Given the description of an element on the screen output the (x, y) to click on. 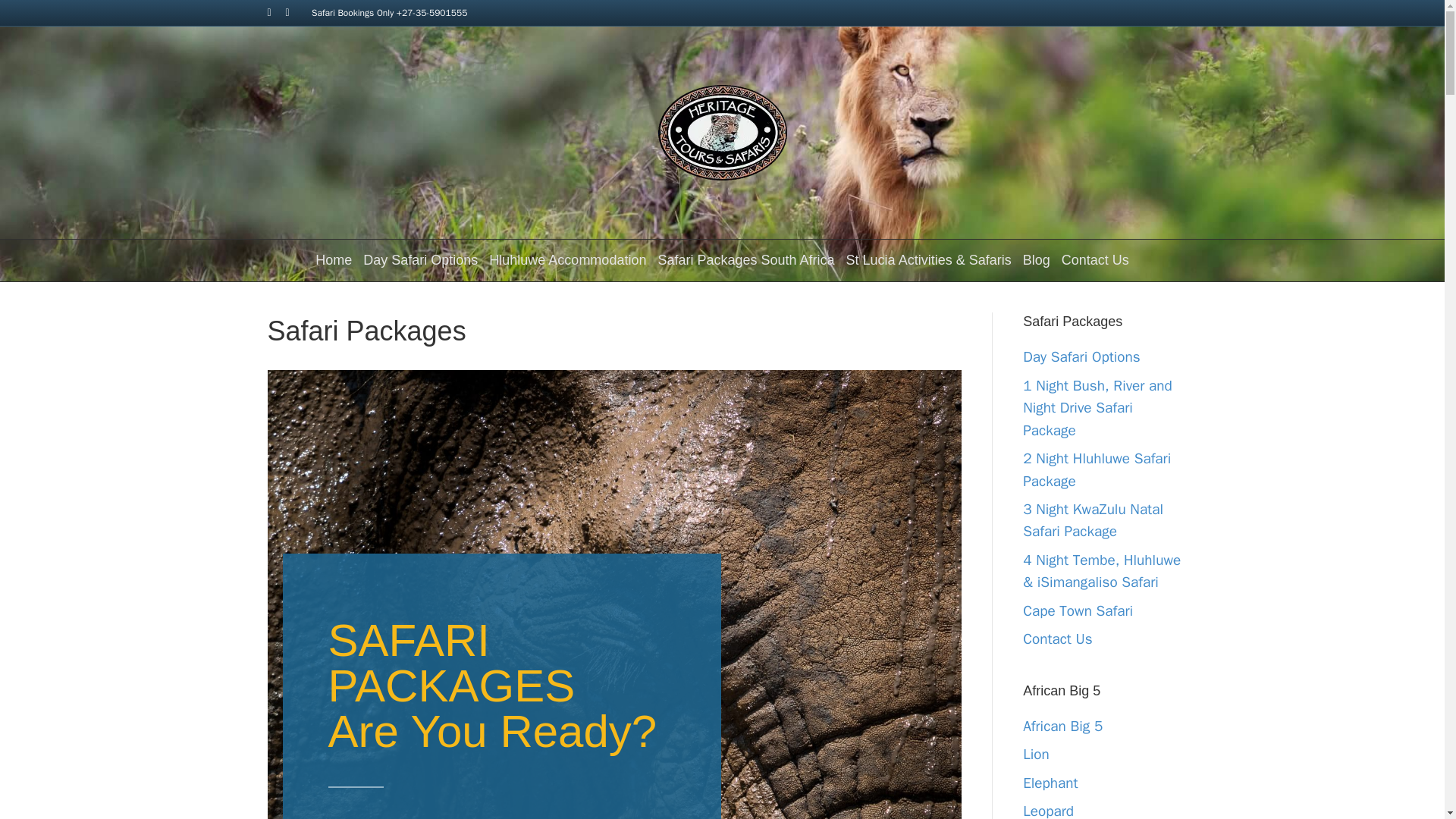
Hluhluwe Accommodation (566, 260)
Safari Packages South Africa (745, 260)
Facebook (275, 11)
Home (333, 260)
Day Safari Options (420, 260)
Contact Us (1095, 260)
Youtube (293, 11)
